Given the description of an element on the screen output the (x, y) to click on. 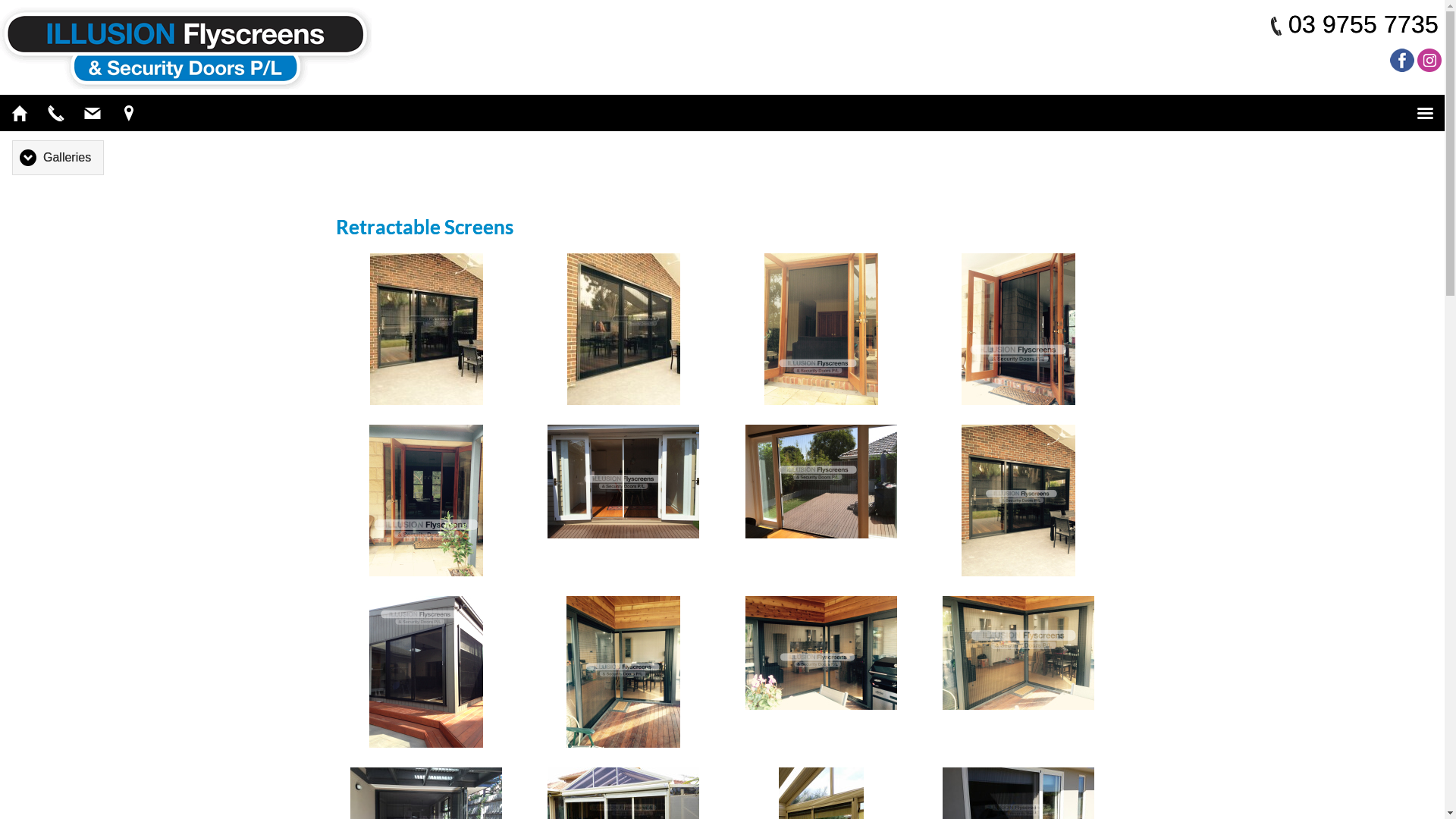
EMAIL Element type: text (92, 112)
Menu Element type: text (1424, 112)
Galleries Element type: text (57, 157)
LOCATION Element type: text (128, 112)
CALL Element type: text (55, 112)
03 9755 7735 Element type: text (1363, 23)
HOME Element type: text (19, 112)
